Given the description of an element on the screen output the (x, y) to click on. 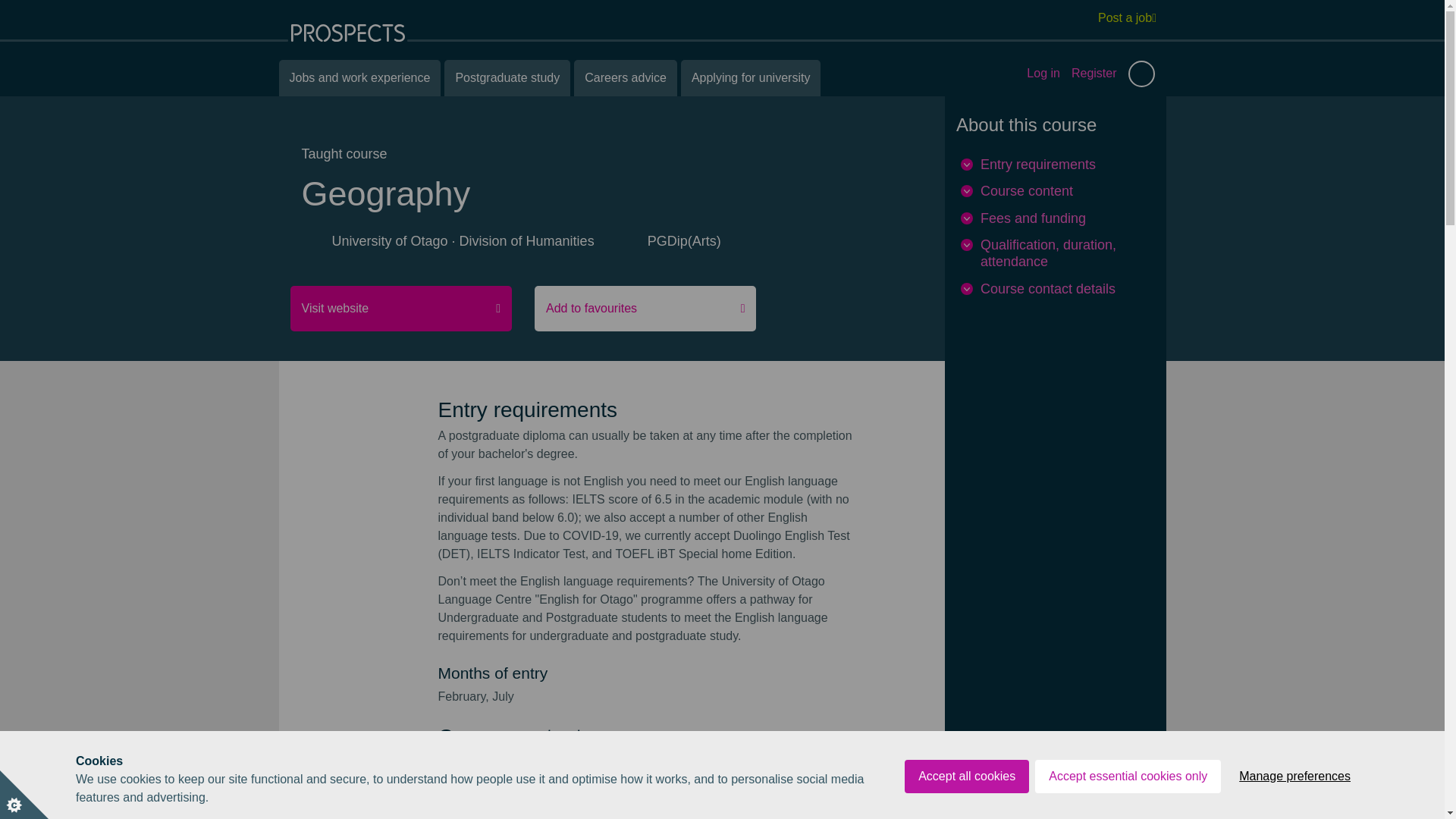
Jobs and work experience (360, 77)
Postgraduate study (507, 77)
Post a job (1126, 18)
Site search (1141, 73)
Careers advice (625, 77)
Manage preferences (1294, 816)
